Given the description of an element on the screen output the (x, y) to click on. 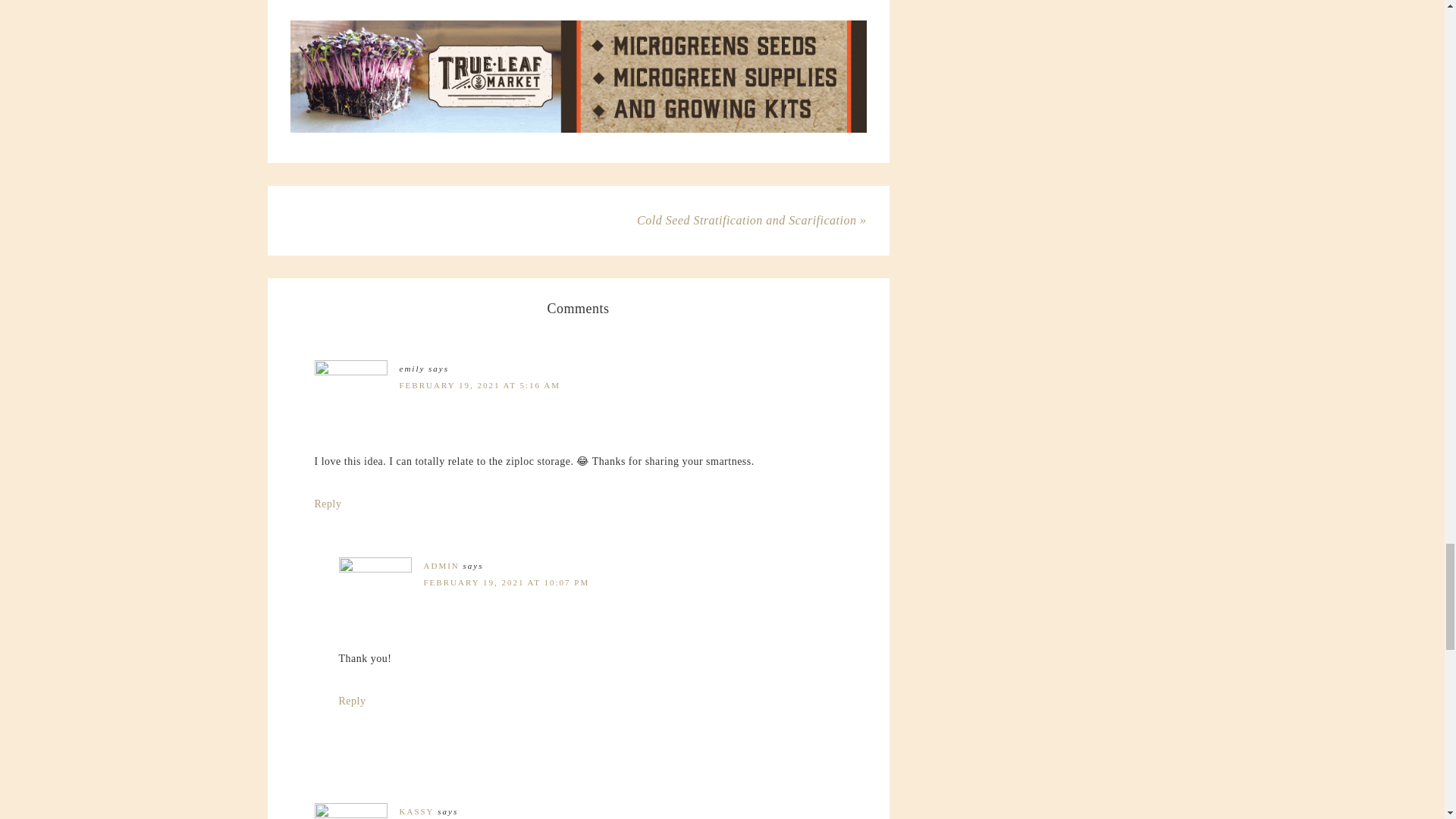
FEBRUARY 19, 2021 AT 5:16 AM (478, 384)
Reply (327, 503)
Reply (351, 700)
Check out our Microgreens at True Leaf Market (577, 75)
FEBRUARY 19, 2021 AT 10:07 PM (506, 582)
KASSY (415, 810)
ADMIN (440, 565)
